Given the description of an element on the screen output the (x, y) to click on. 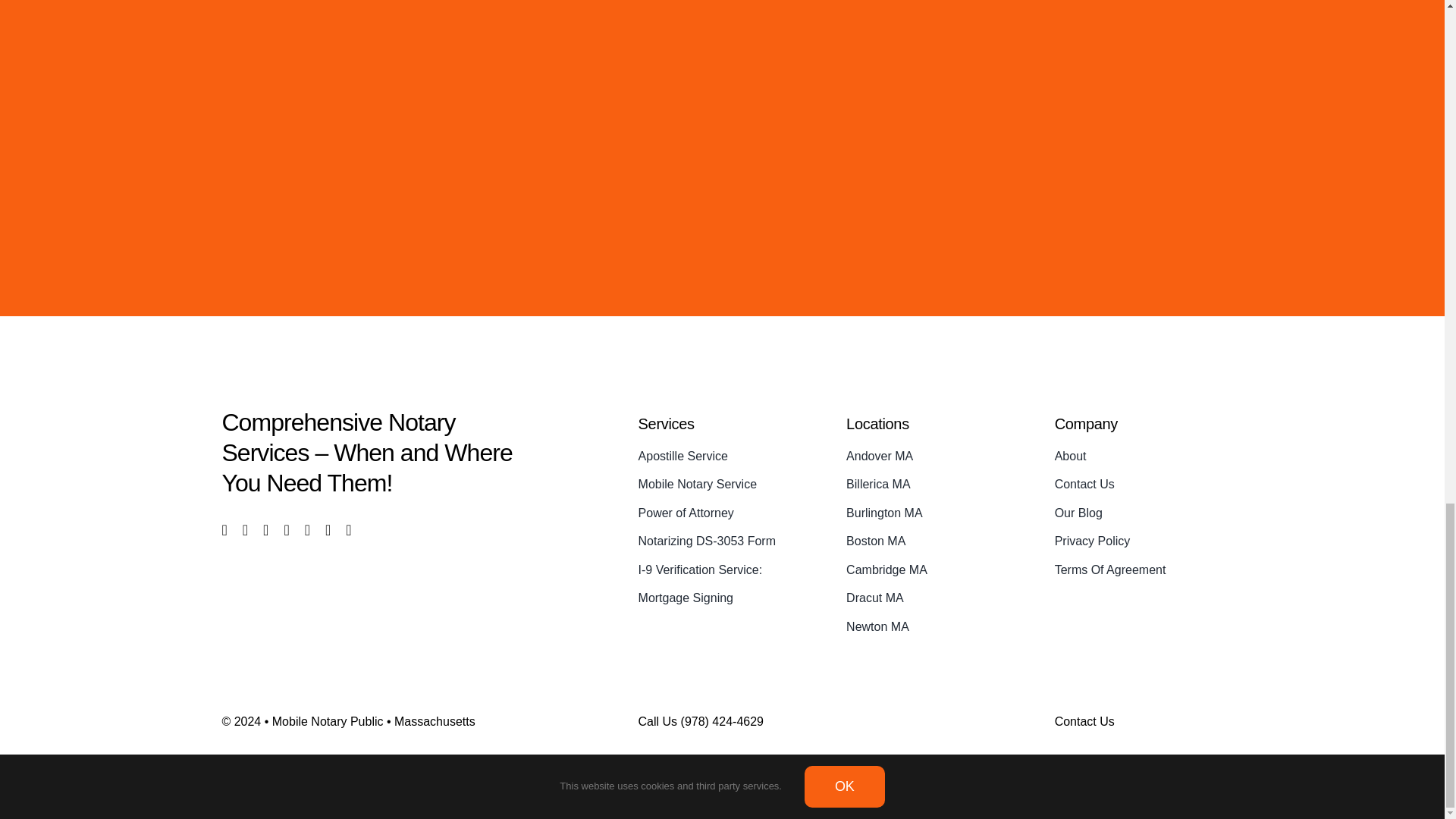
X (245, 529)
Facebook (224, 529)
LinkedIn (307, 529)
Pinterest (348, 529)
Tiktok (327, 529)
YouTube (285, 529)
Instagram (265, 529)
